Given the description of an element on the screen output the (x, y) to click on. 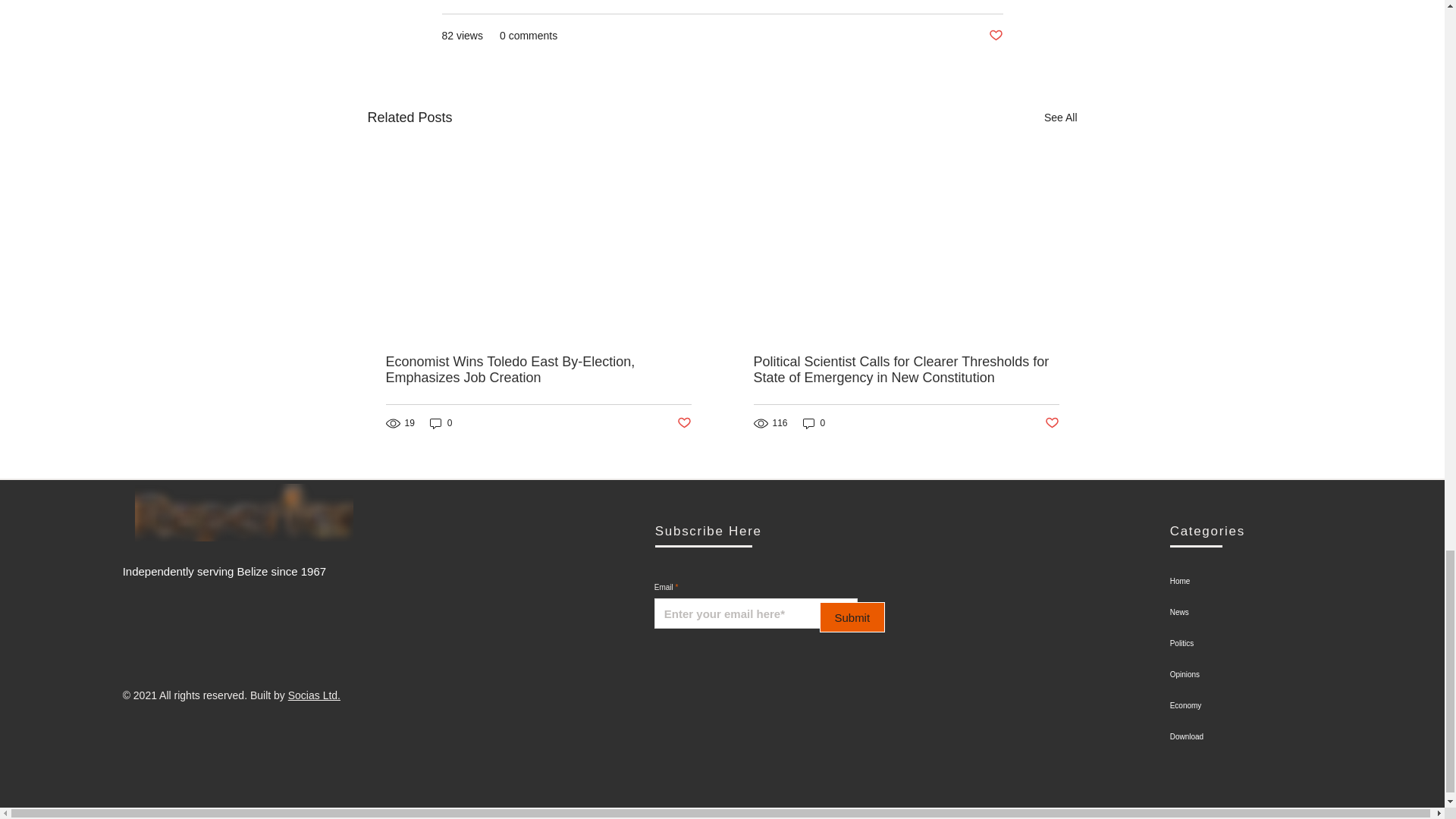
Post not marked as liked (683, 423)
Post not marked as liked (995, 35)
See All (1060, 116)
0 (441, 423)
